Given the description of an element on the screen output the (x, y) to click on. 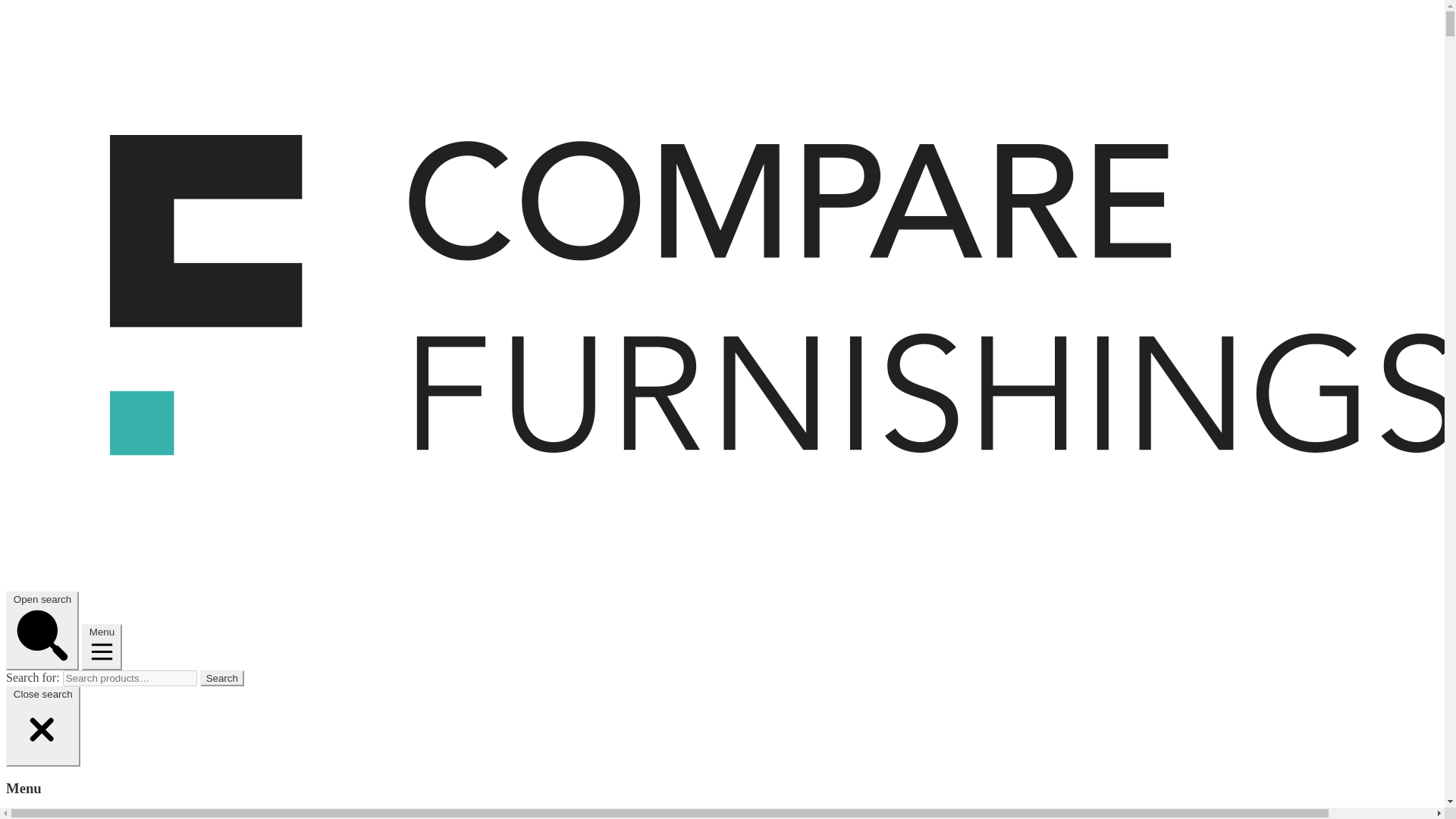
Search (222, 678)
Menu (101, 647)
Open search (41, 630)
Close search (42, 726)
